Given the description of an element on the screen output the (x, y) to click on. 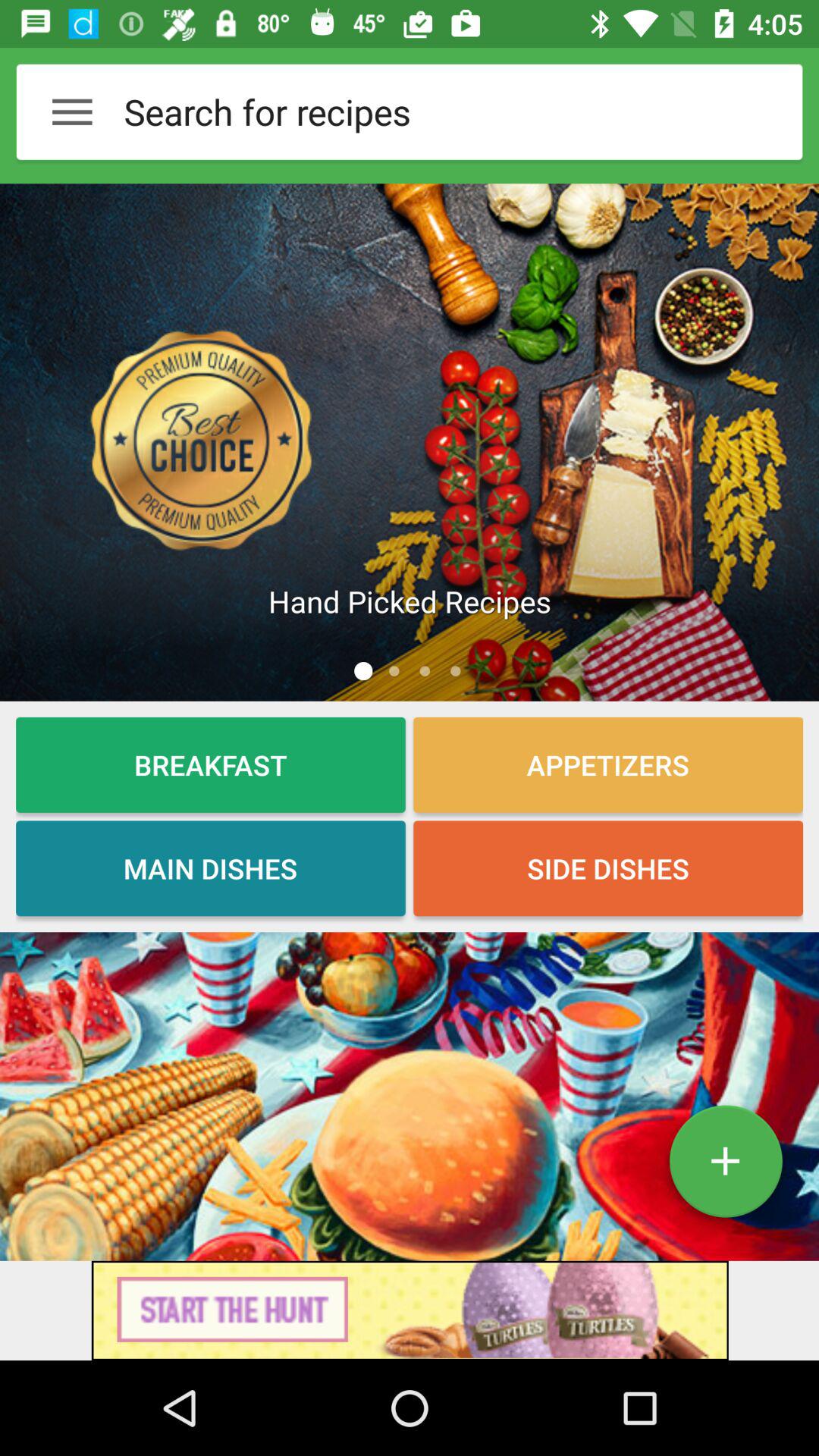
searches 'best choice recipes (409, 442)
